Given the description of an element on the screen output the (x, y) to click on. 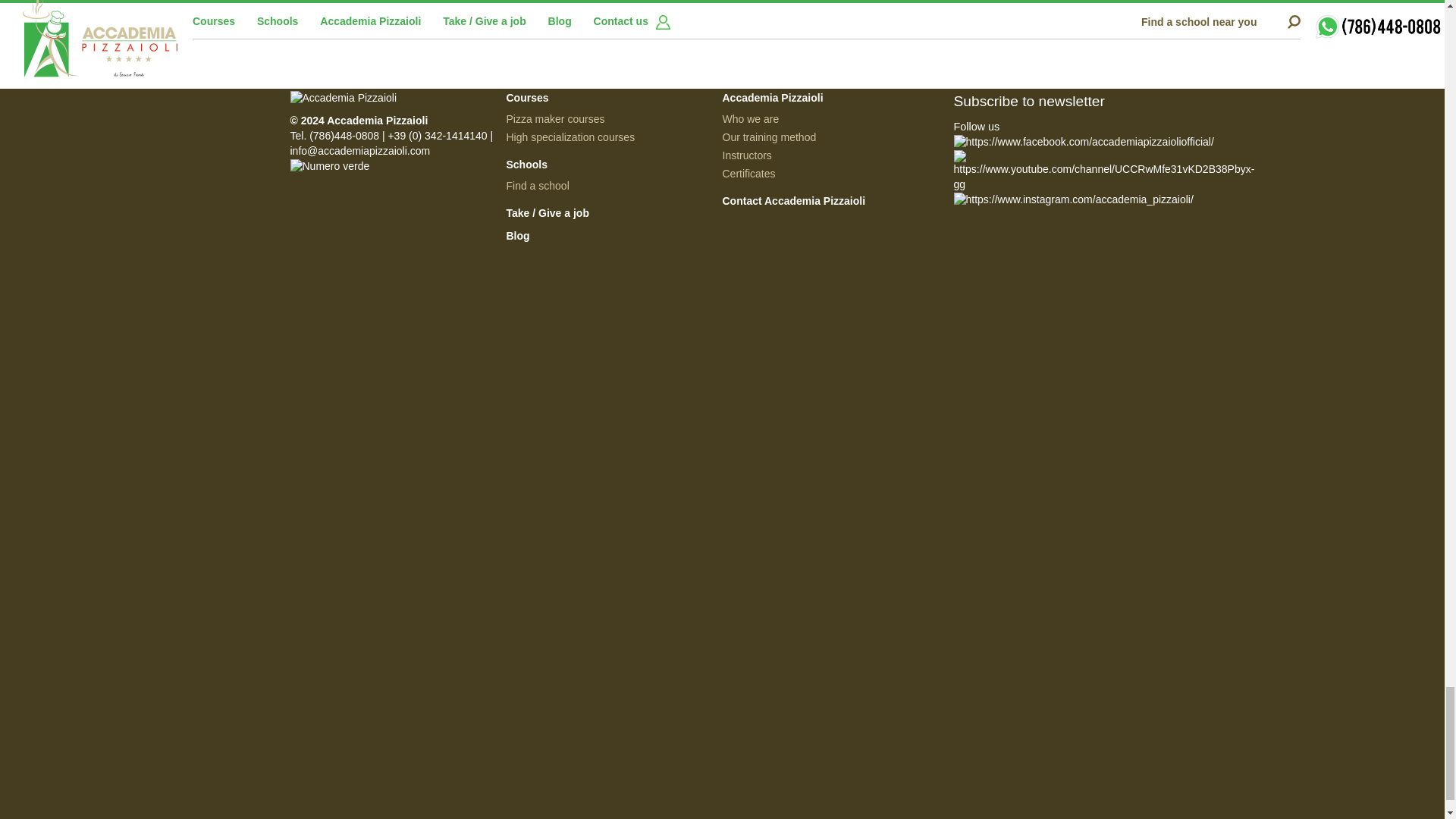
COURSE (58, 366)
Course (58, 366)
Accademia Pizzaioli (392, 98)
SCHOOL (58, 504)
COURSE (58, 366)
Numero verde  (392, 166)
INFORMATIONS (58, 641)
Program (58, 229)
SCHOOL (58, 504)
PROGRAM (58, 229)
